Given the description of an element on the screen output the (x, y) to click on. 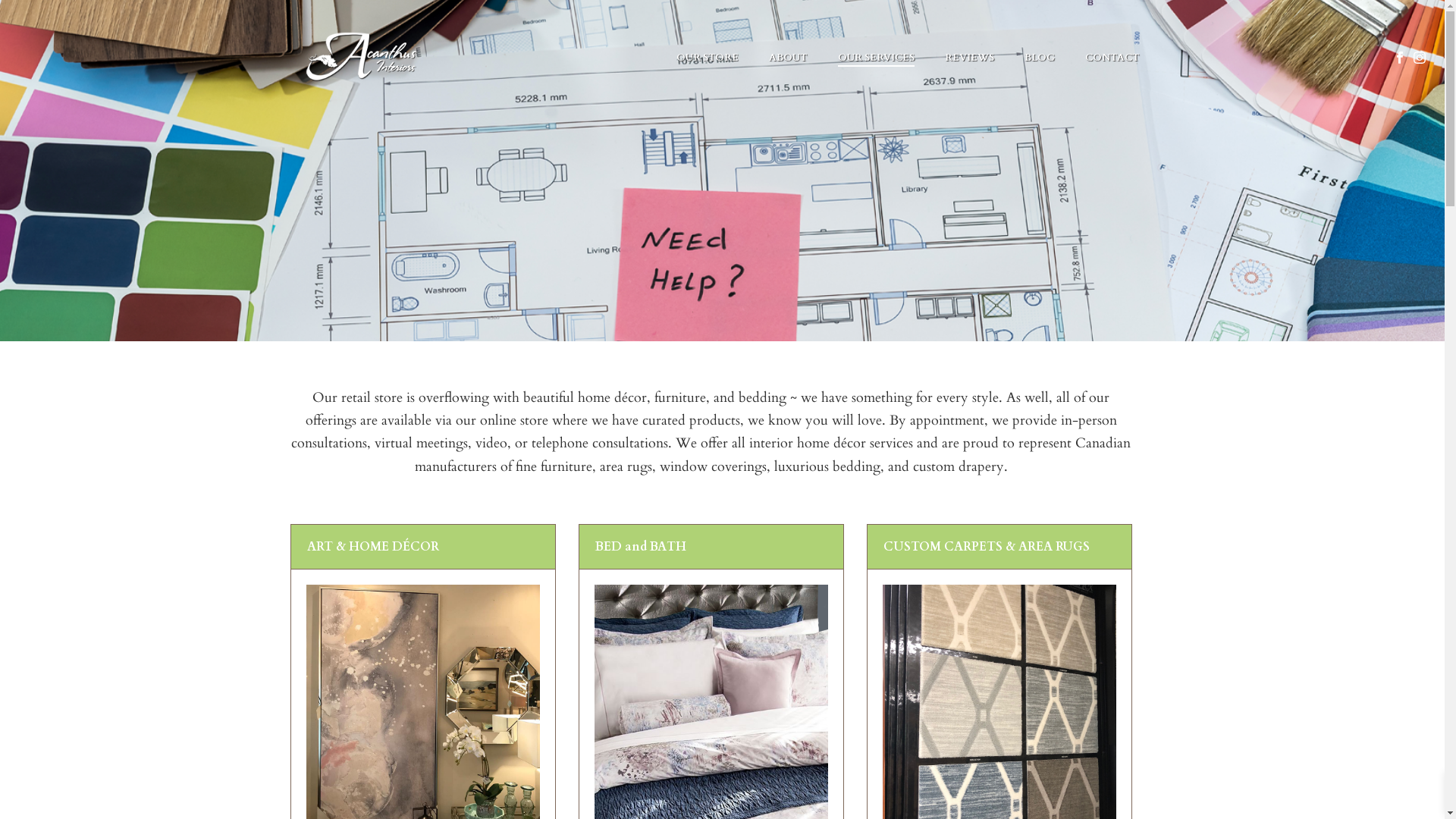
ABOUT Element type: text (787, 57)
OUR SERVICES Element type: text (875, 57)
CONTACT Element type: text (1111, 57)
BLOG Element type: text (1038, 57)
OUR STORE Element type: text (707, 57)
Interior Design & Showroom Element type: hover (361, 56)
REVIEWS Element type: text (969, 57)
